Given the description of an element on the screen output the (x, y) to click on. 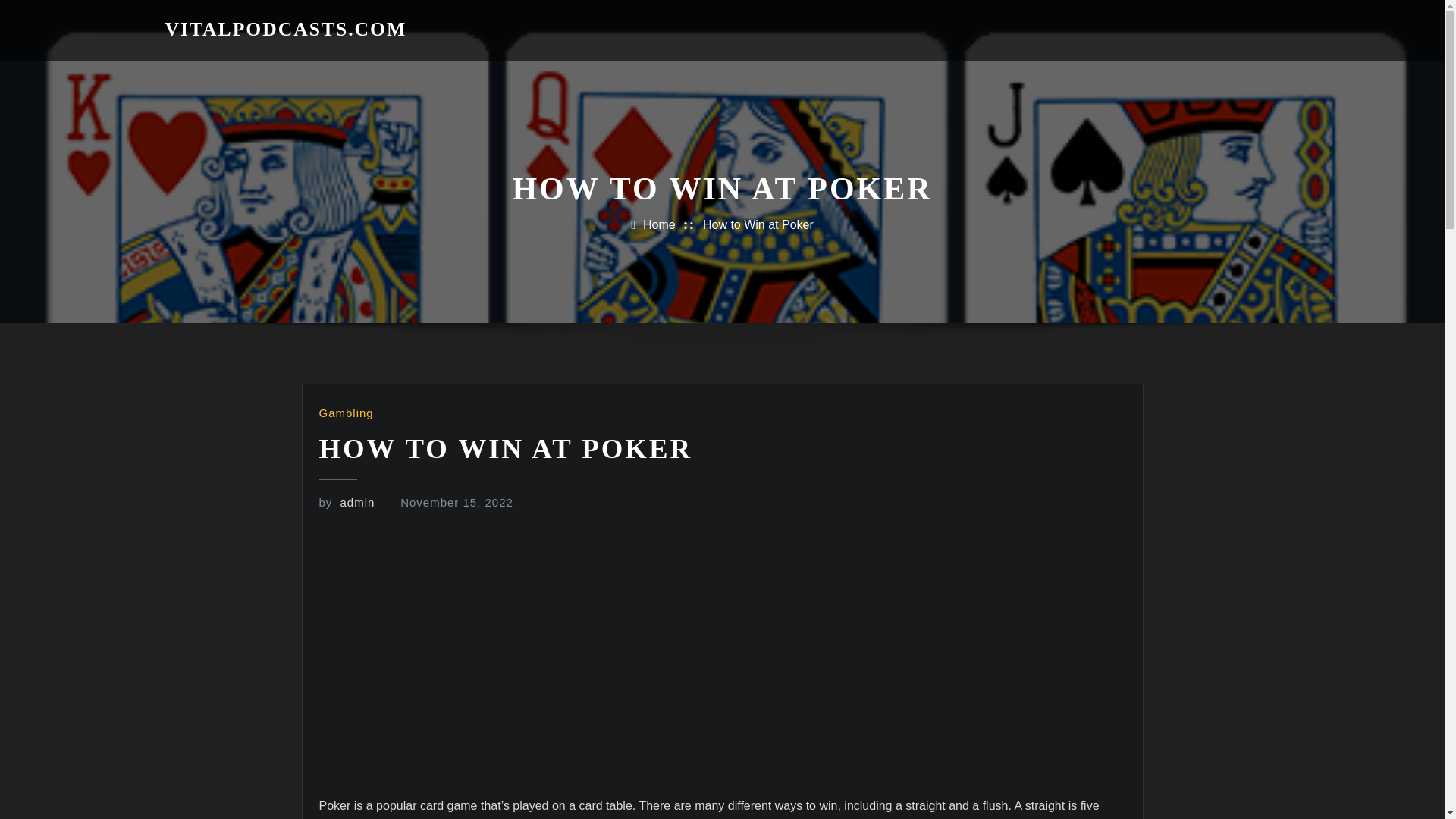
November 15, 2022 (456, 502)
VITALPODCASTS.COM (286, 29)
Home (659, 224)
Gambling (345, 412)
by admin (346, 502)
How to Win at Poker (758, 224)
